Given the description of an element on the screen output the (x, y) to click on. 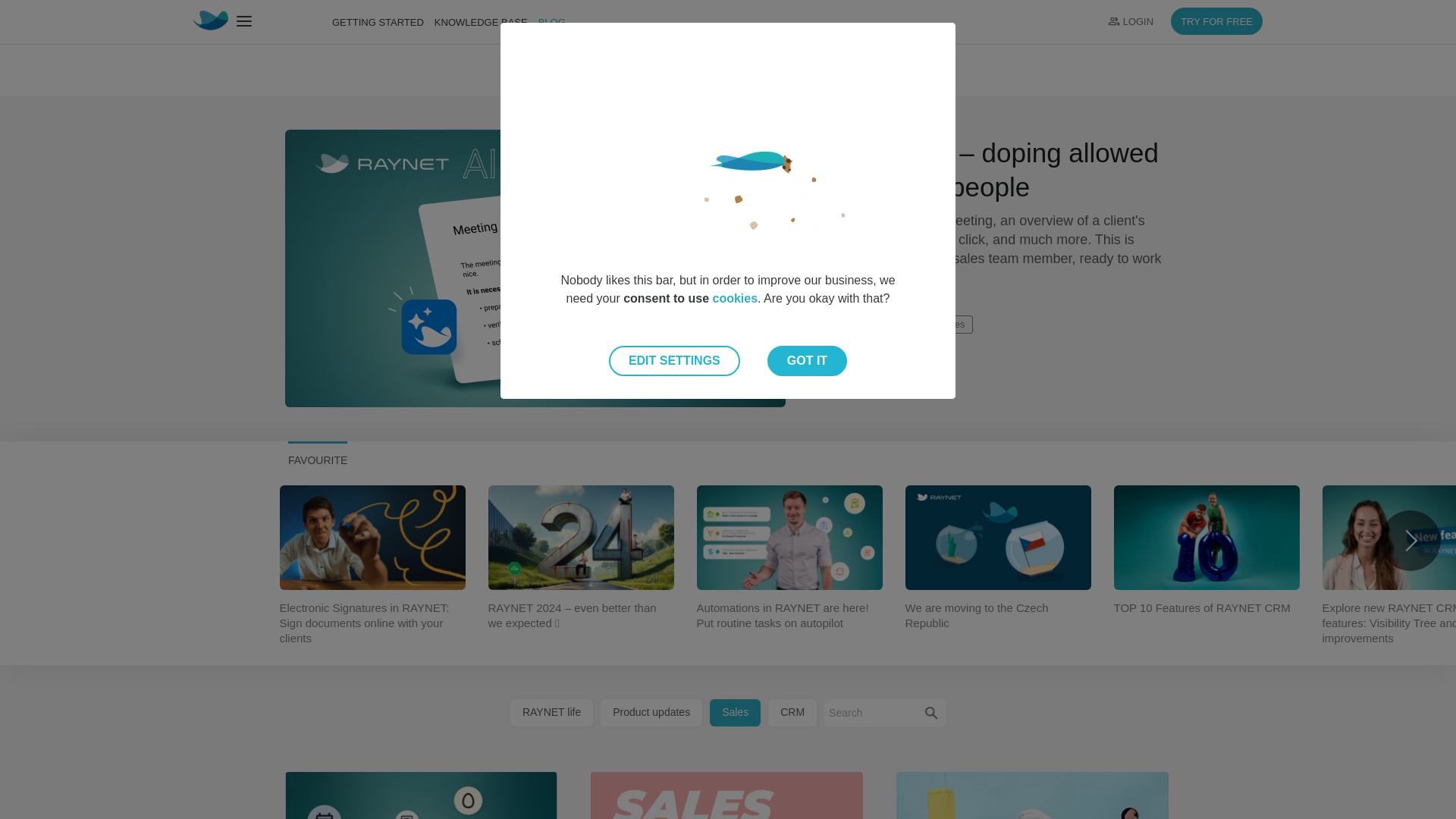
Blog (546, 20)
RAYNET CRM (252, 22)
Getting started (372, 20)
Login (1130, 21)
LOGIN (1130, 21)
RAYNET CRM (210, 20)
GETTING STARTED (372, 20)
Try for free (1216, 21)
KNOWLEDGE BASE (475, 20)
Knowledge base (475, 20)
